Given the description of an element on the screen output the (x, y) to click on. 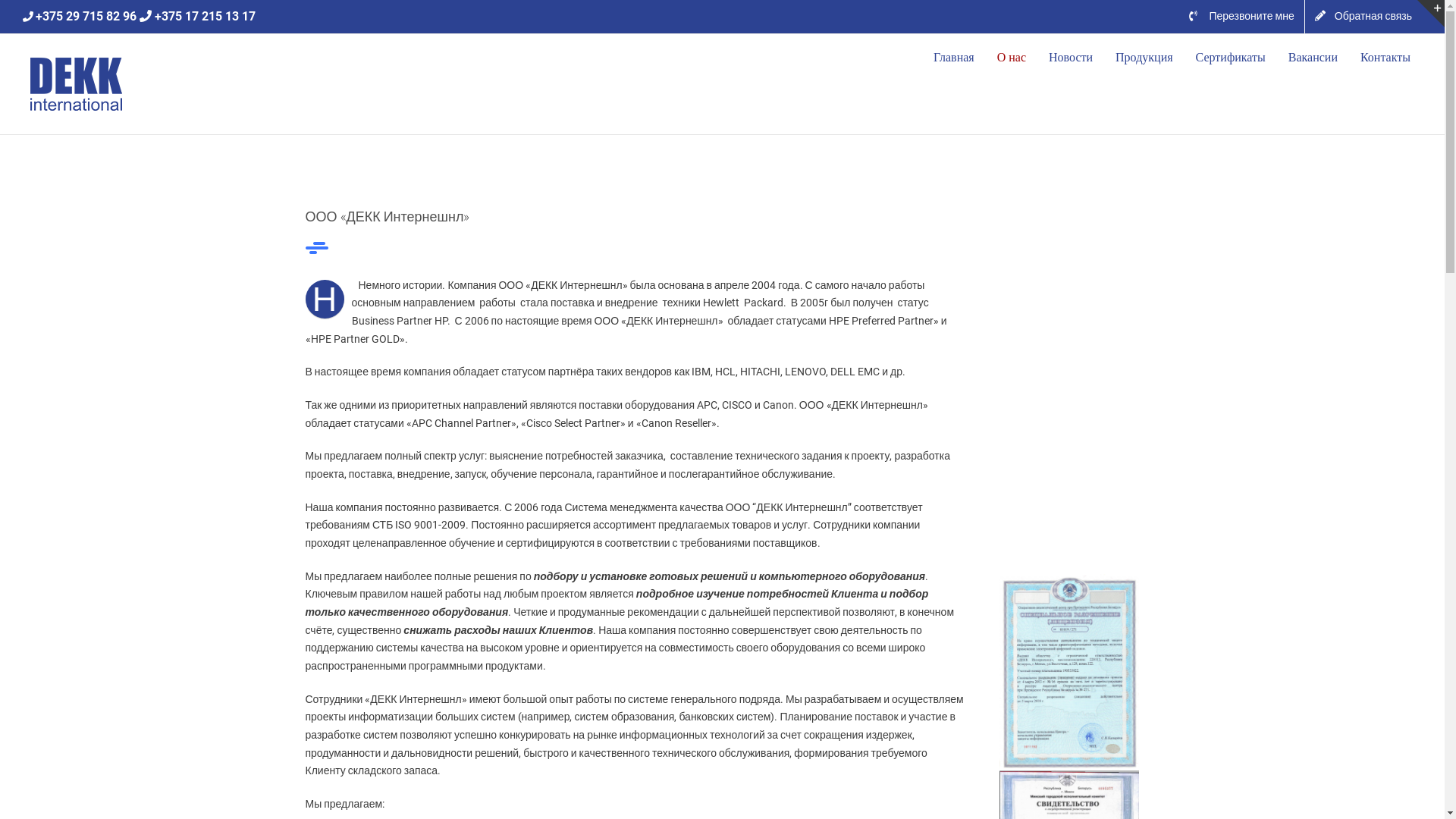
Toggle Sliding Bar Area Element type: text (1430, 13)
divide Element type: hover (315, 247)
